Given the description of an element on the screen output the (x, y) to click on. 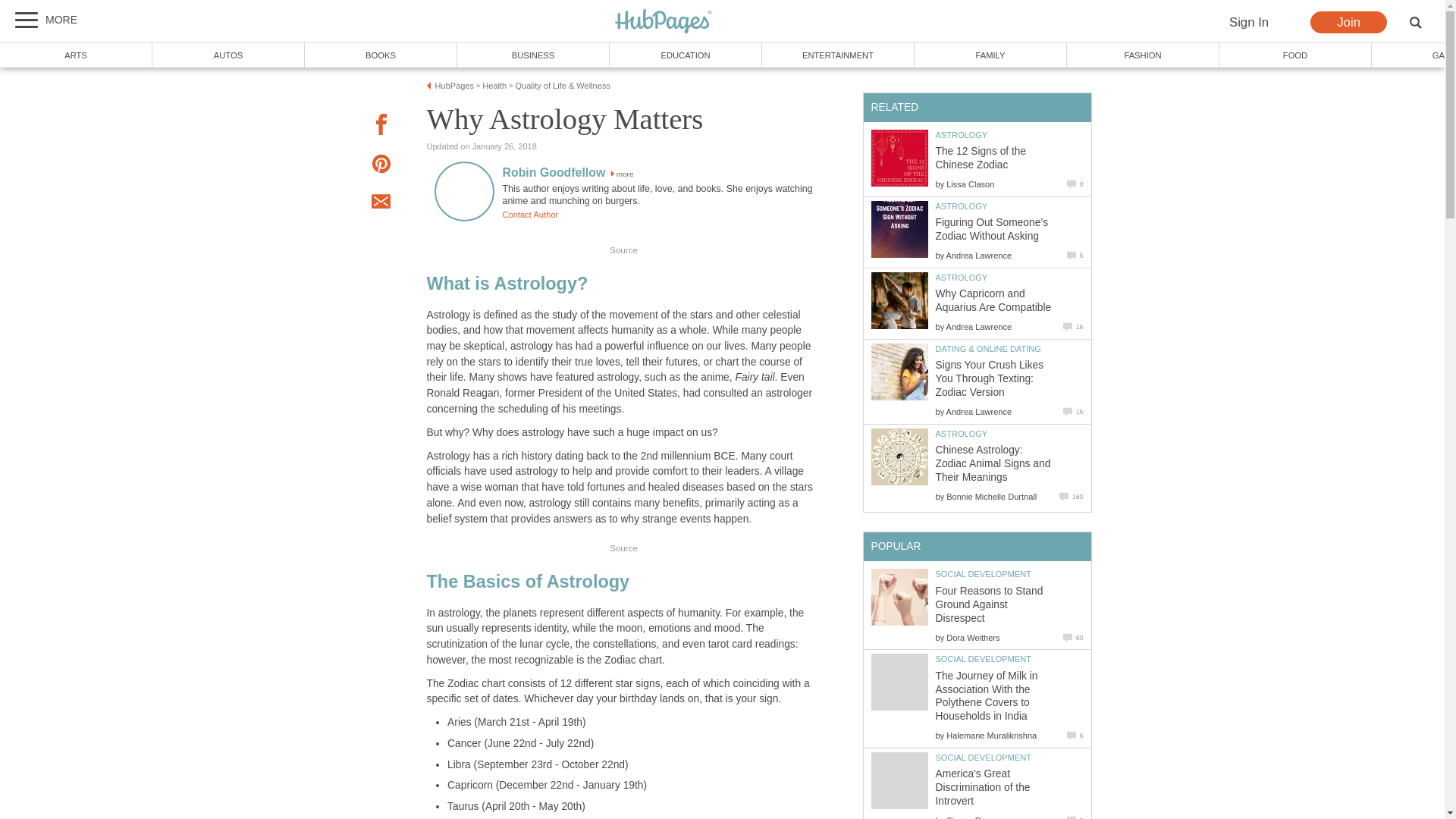
Join (1348, 22)
ASTROLOGY (962, 134)
HubPages (663, 21)
FASHION (1143, 55)
HubPages (663, 22)
The 12 Signs of the Chinese Zodiac (898, 157)
ENTERTAINMENT (837, 55)
Contact Author (529, 214)
Email (380, 203)
EDUCATION (685, 55)
